Given the description of an element on the screen output the (x, y) to click on. 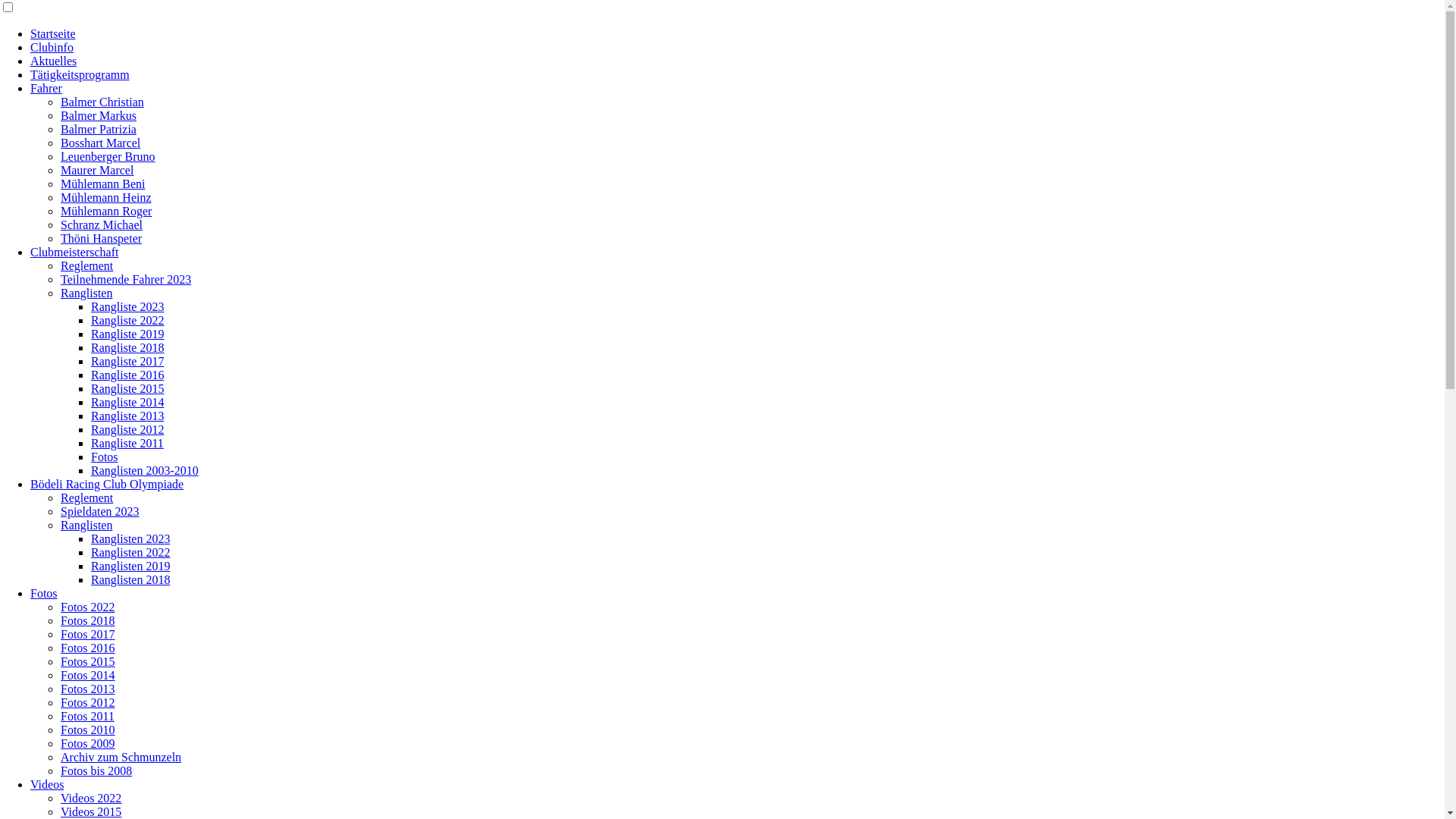
Rangliste 2023 Element type: text (127, 306)
Rangliste 2012 Element type: text (127, 429)
Clubmeisterschaft Element type: text (74, 251)
Aktuelles Element type: text (53, 60)
Balmer Christian Element type: text (102, 101)
Ranglisten 2003-2010 Element type: text (144, 470)
Fotos bis 2008 Element type: text (95, 770)
Spieldaten 2023 Element type: text (99, 511)
Fotos Element type: text (43, 592)
Maurer Marcel Element type: text (96, 169)
Ranglisten 2019 Element type: text (130, 565)
Fotos Element type: text (104, 456)
Ranglisten Element type: text (86, 292)
Rangliste 2022 Element type: text (127, 319)
Archiv zum Schmunzeln Element type: text (120, 756)
Fotos 2011 Element type: text (87, 715)
Reglement Element type: text (86, 265)
Rangliste 2018 Element type: text (127, 347)
Fotos 2017 Element type: text (87, 633)
Ranglisten 2023 Element type: text (130, 538)
Teilnehmende Fahrer 2023 Element type: text (125, 279)
Schranz Michael Element type: text (101, 224)
Rangliste 2011 Element type: text (127, 442)
Fotos 2015 Element type: text (87, 661)
Rangliste 2016 Element type: text (127, 374)
Videos 2015 Element type: text (90, 811)
Clubinfo Element type: text (51, 46)
Balmer Markus Element type: text (98, 115)
Fotos 2014 Element type: text (87, 674)
Fotos 2009 Element type: text (87, 743)
Rangliste 2019 Element type: text (127, 333)
Ranglisten 2022 Element type: text (130, 552)
Fotos 2016 Element type: text (87, 647)
Fotos 2012 Element type: text (87, 702)
Videos 2022 Element type: text (90, 797)
Fotos 2013 Element type: text (87, 688)
Fahrer Element type: text (46, 87)
Balmer Patrizia Element type: text (98, 128)
Fotos 2010 Element type: text (87, 729)
Bosshart Marcel Element type: text (100, 142)
Videos Element type: text (46, 784)
Ranglisten Element type: text (86, 524)
Ranglisten 2018 Element type: text (130, 579)
Rangliste 2013 Element type: text (127, 415)
Reglement Element type: text (86, 497)
Rangliste 2017 Element type: text (127, 360)
Startseite Element type: text (52, 33)
Fotos 2018 Element type: text (87, 620)
Fotos 2022 Element type: text (87, 606)
Rangliste 2014 Element type: text (127, 401)
Leuenberger Bruno Element type: text (107, 156)
Rangliste 2015 Element type: text (127, 388)
